Given the description of an element on the screen output the (x, y) to click on. 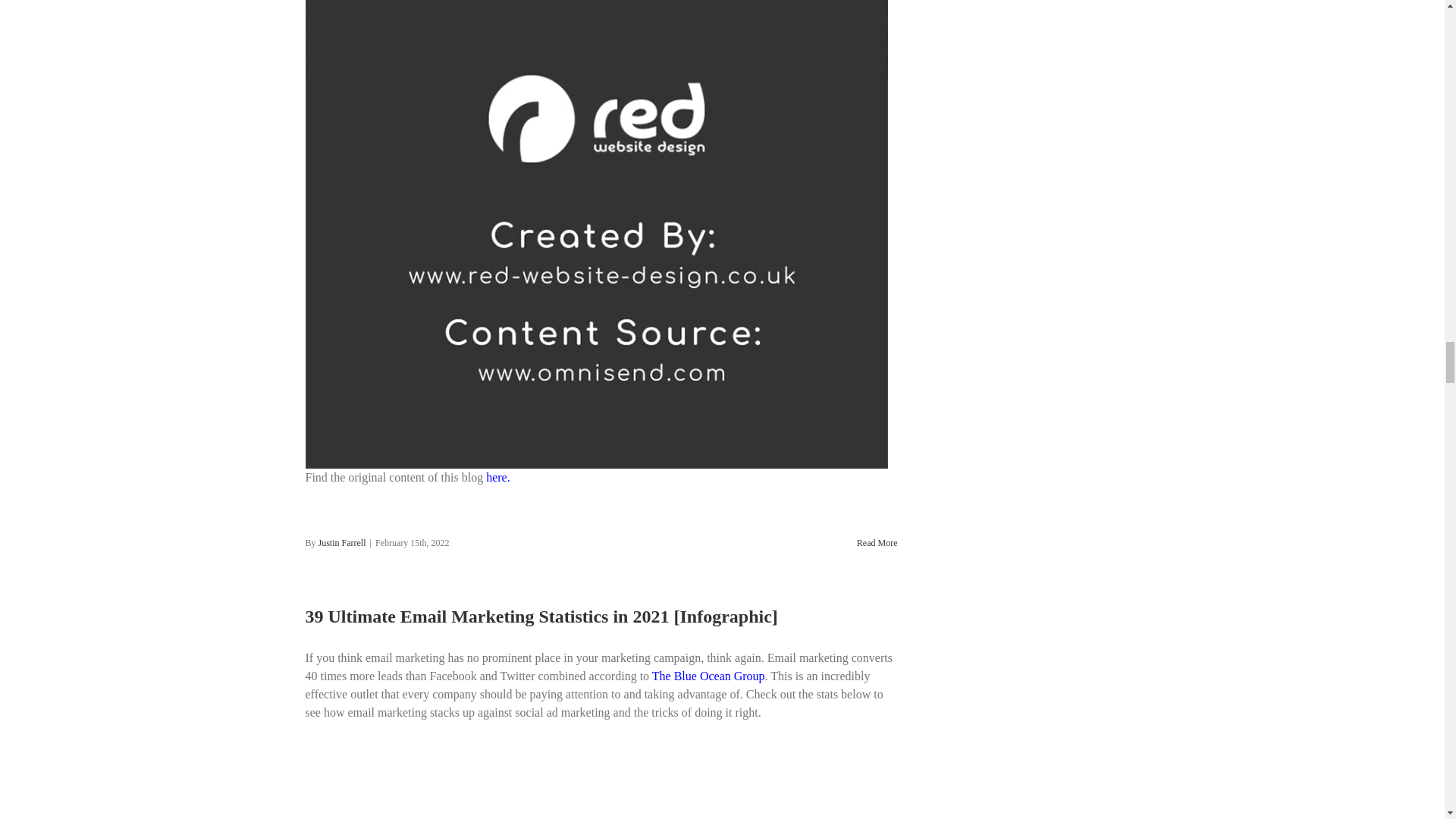
Justin Farrell (342, 542)
Posts by Justin Farrell (342, 542)
The Blue Ocean Group (708, 675)
here. (498, 477)
Read More (877, 542)
